Given the description of an element on the screen output the (x, y) to click on. 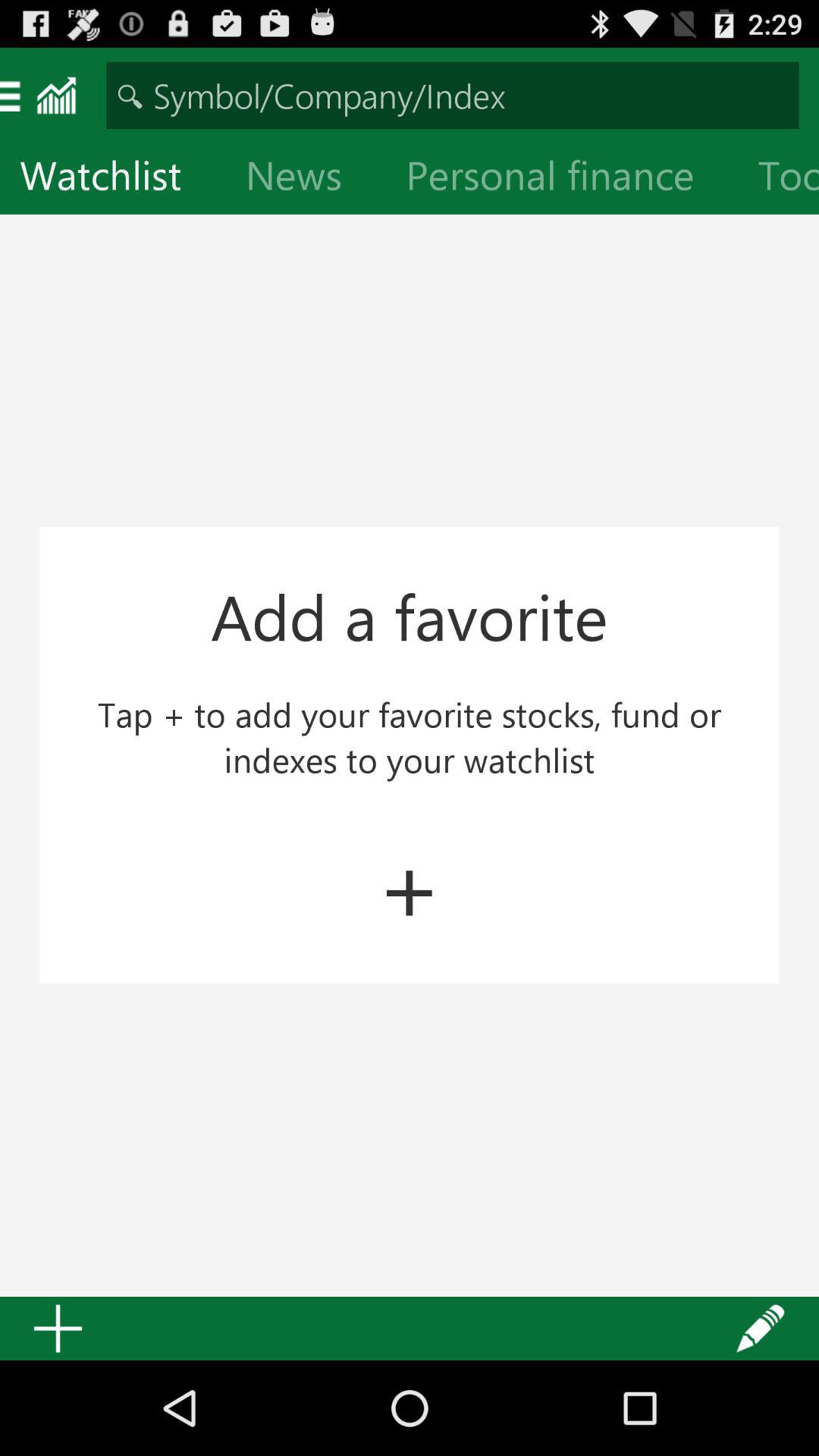
text box for typing (452, 95)
